Given the description of an element on the screen output the (x, y) to click on. 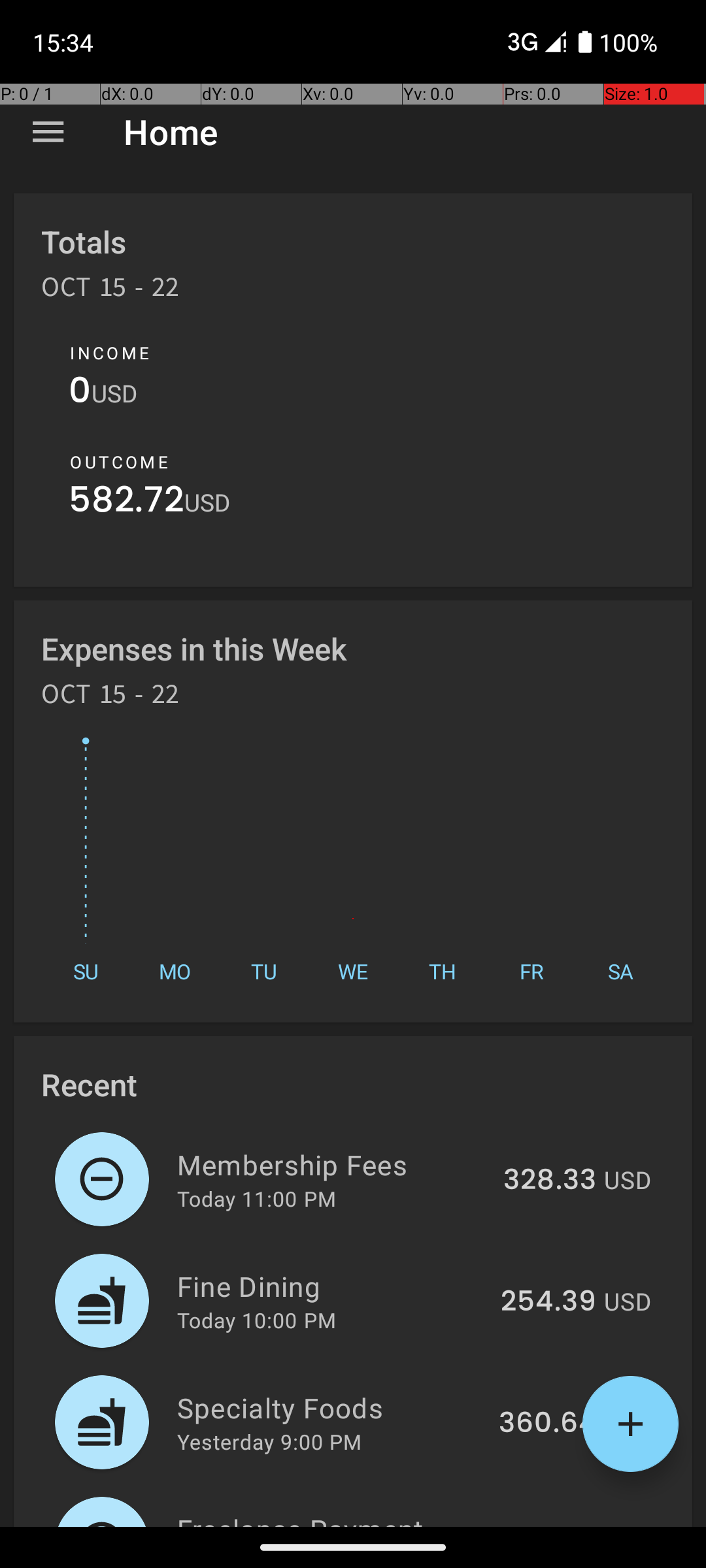
582.72 Element type: android.widget.TextView (126, 502)
Membership Fees Element type: android.widget.TextView (332, 1164)
Today 11:00 PM Element type: android.widget.TextView (256, 1198)
328.33 Element type: android.widget.TextView (549, 1180)
Fine Dining Element type: android.widget.TextView (331, 1285)
Today 10:00 PM Element type: android.widget.TextView (256, 1320)
254.39 Element type: android.widget.TextView (548, 1301)
Specialty Foods Element type: android.widget.TextView (330, 1407)
Yesterday 9:00 PM Element type: android.widget.TextView (269, 1441)
360.64 Element type: android.widget.TextView (547, 1423)
Freelance Payment Element type: android.widget.TextView (333, 1518)
490.51 Element type: android.widget.TextView (550, 1524)
